Given the description of an element on the screen output the (x, y) to click on. 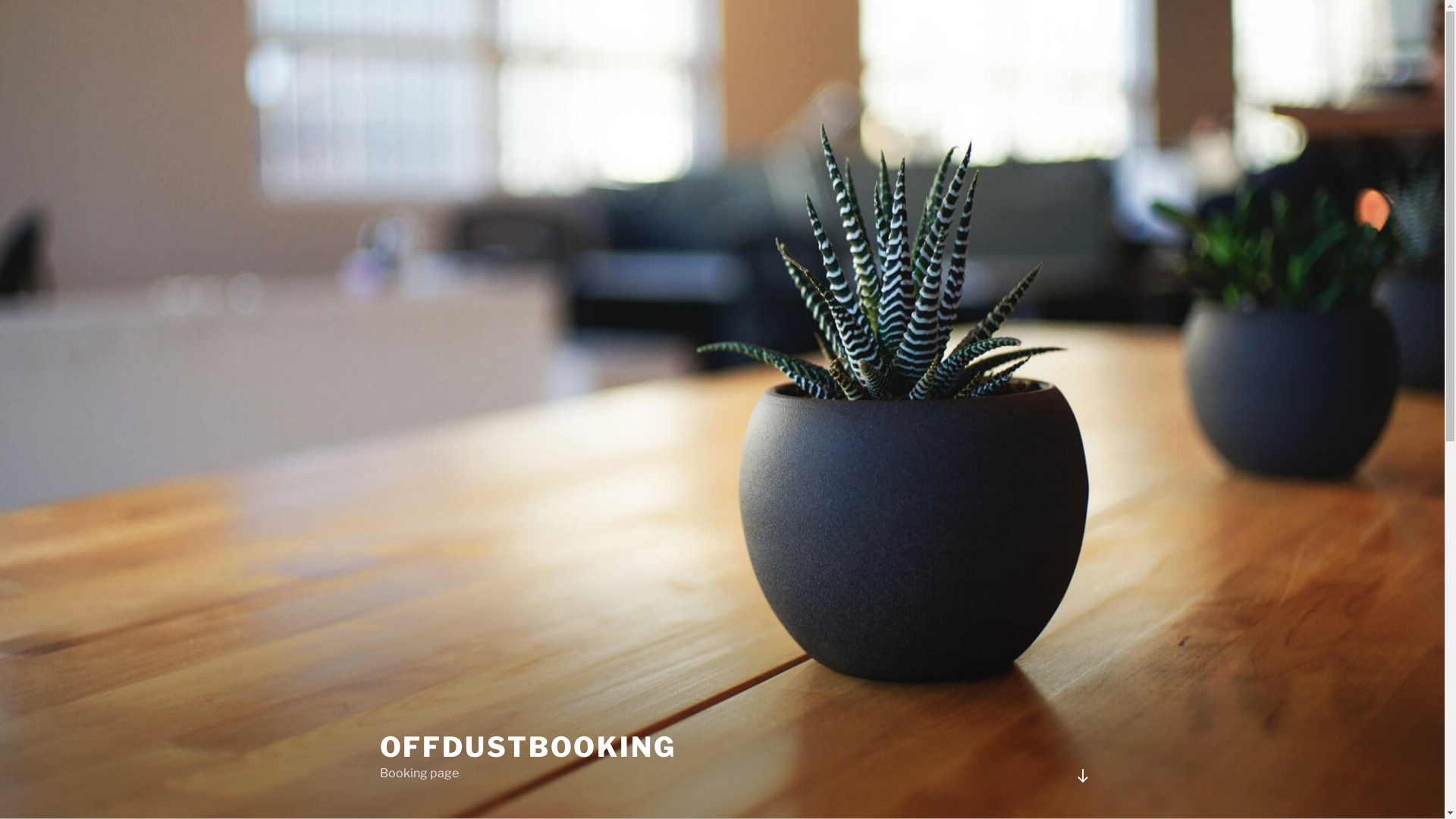
Skip to content Element type: text (0, 0)
Scroll down to content Element type: text (1082, 775)
OFFDUSTBOOKING Element type: text (527, 746)
